Given the description of an element on the screen output the (x, y) to click on. 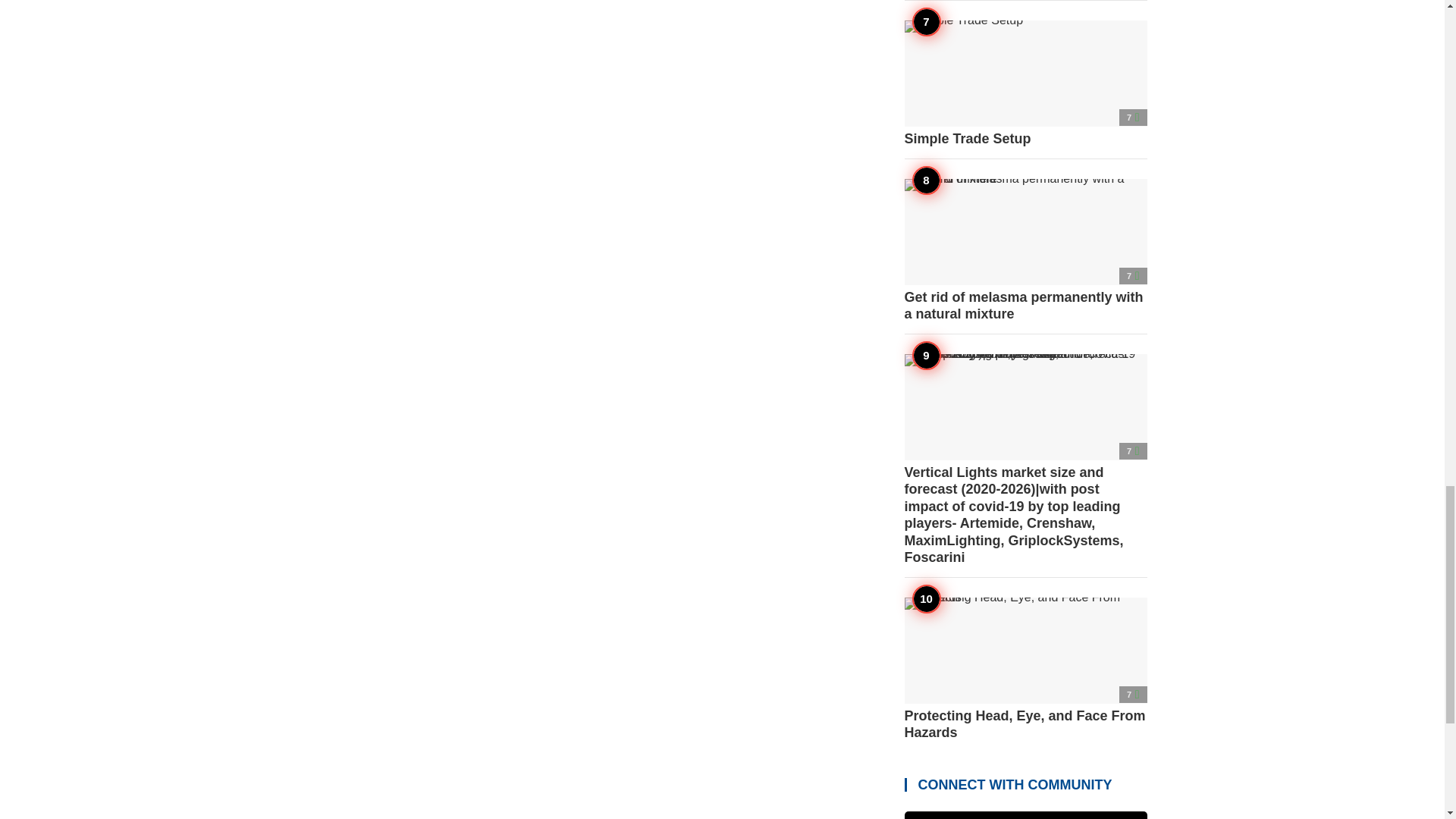
Simple Trade Setup (1025, 84)
Get rid of melasma permanently with a natural mixture (1025, 250)
Protecting Head, Eye, and Face From Hazards (1025, 669)
